Given the description of an element on the screen output the (x, y) to click on. 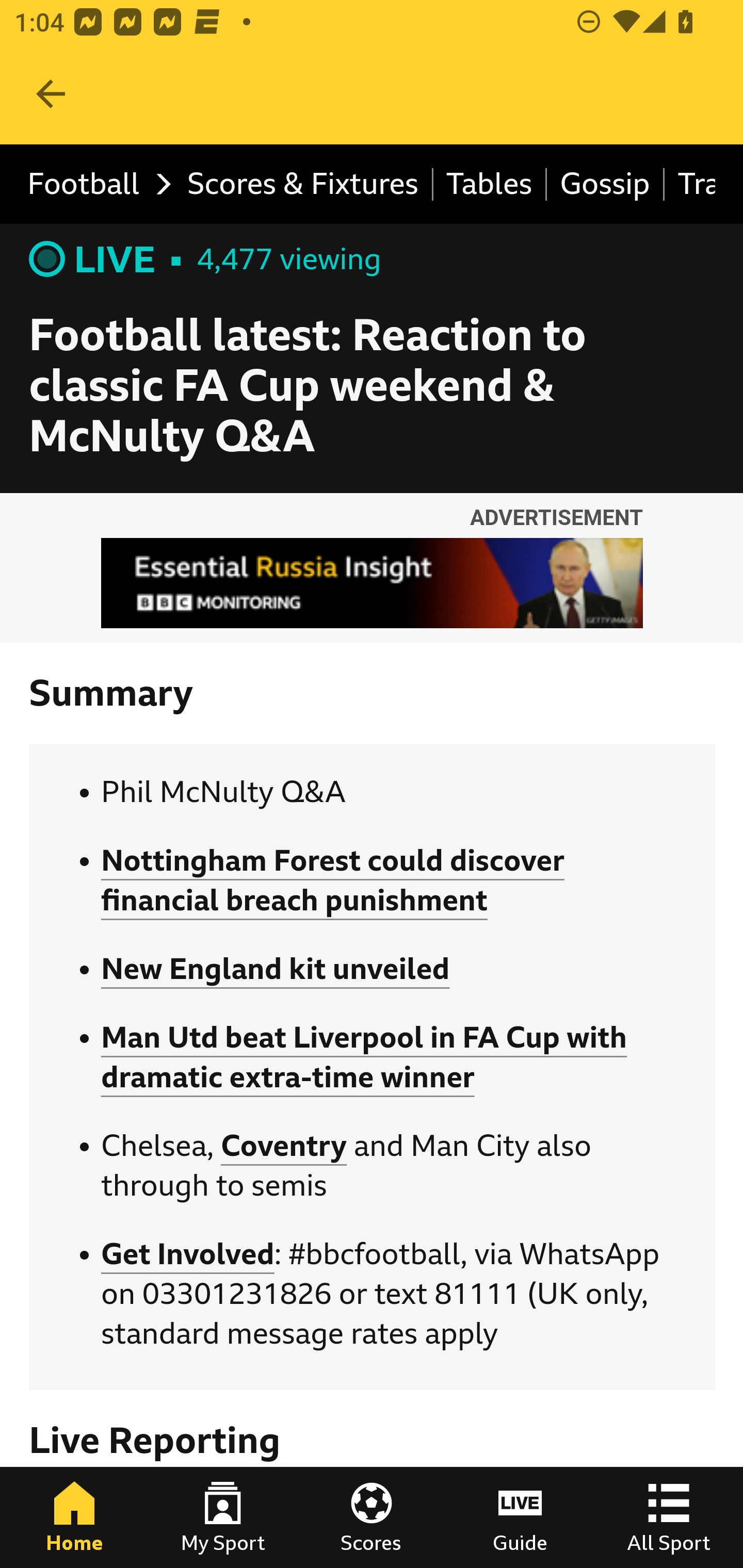
Navigate up (50, 93)
Football (94, 184)
Scores & Fixtures (303, 184)
Tables (490, 184)
Gossip (605, 184)
New England kit unveiled (276, 969)
Coventry (284, 1145)
Get Involved (187, 1254)
My Sport (222, 1517)
Scores (371, 1517)
Guide (519, 1517)
All Sport (668, 1517)
